Given the description of an element on the screen output the (x, y) to click on. 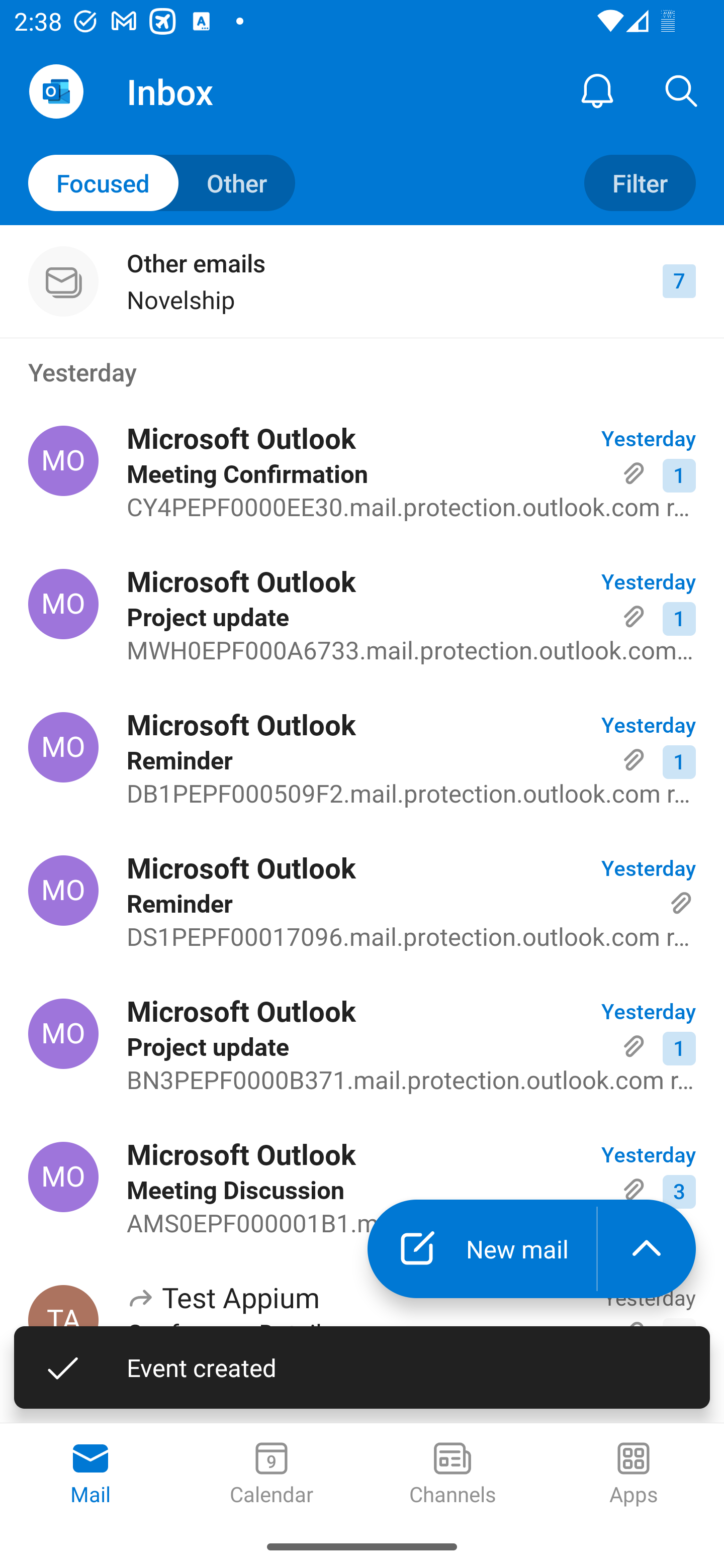
Notification Center (597, 90)
Search, ,  (681, 90)
Open Navigation Drawer (55, 91)
Toggle to other mails (161, 183)
Filter (639, 183)
Other emails Novelship 7 (362, 281)
New mail (481, 1248)
launch the extended action menu (646, 1248)
Calendar (271, 1474)
Channels (452, 1474)
Apps (633, 1474)
